Given the description of an element on the screen output the (x, y) to click on. 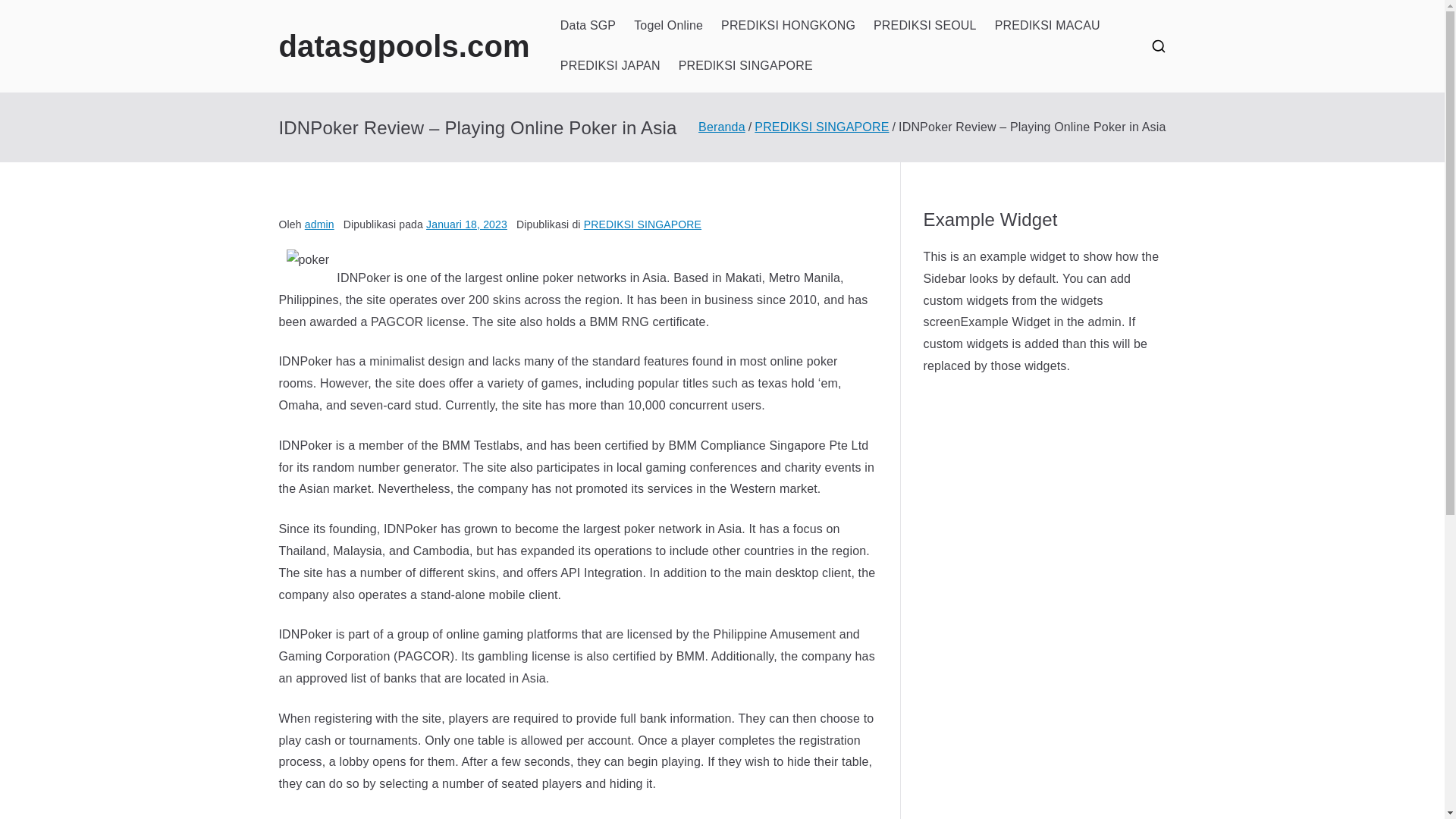
Togel Online (668, 25)
Beranda (721, 126)
Januari 18, 2023 (466, 224)
admin (319, 224)
PREDIKSI SINGAPORE (745, 65)
Search (26, 12)
PREDIKSI JAPAN (610, 65)
PREDIKSI MACAU (1047, 25)
PREDIKSI HONGKONG (788, 25)
datasgpools.com (404, 46)
PREDIKSI SEOUL (924, 25)
PREDIKSI SINGAPORE (642, 224)
Data SGP (587, 25)
PREDIKSI SINGAPORE (821, 126)
